Given the description of an element on the screen output the (x, y) to click on. 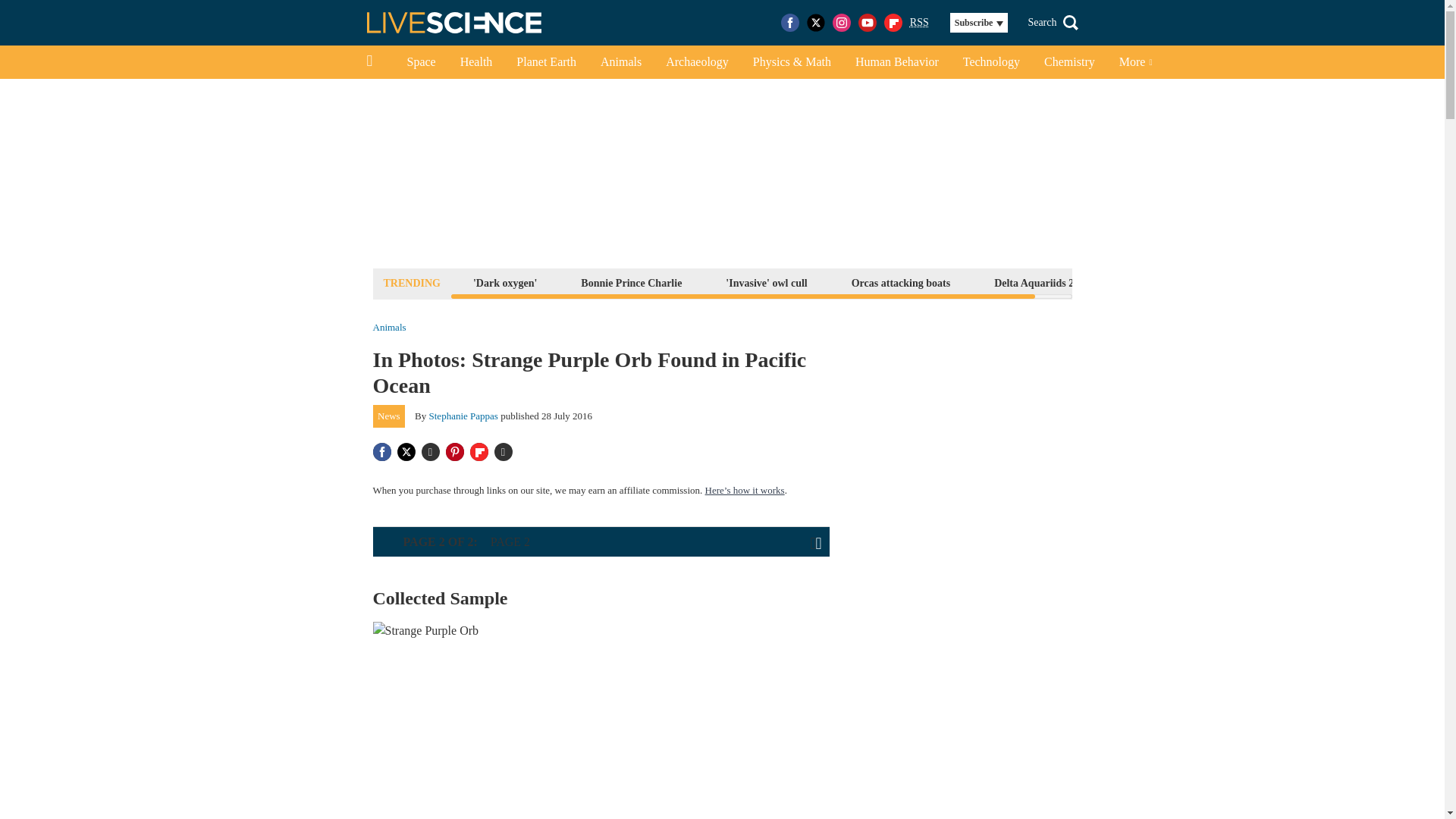
Technology (991, 61)
RSS (919, 22)
'Dark oxygen' (504, 282)
Orcas attacking boats (900, 282)
Stephanie Pappas (463, 415)
Bonnie Prince Charlie (631, 282)
News (389, 415)
Animals (389, 327)
Really Simple Syndication (919, 21)
Human Behavior (896, 61)
Health (476, 61)
Delta Aquariids 2024 (1041, 282)
'Invasive' owl cull (766, 282)
Space (420, 61)
Animals (620, 61)
